Given the description of an element on the screen output the (x, y) to click on. 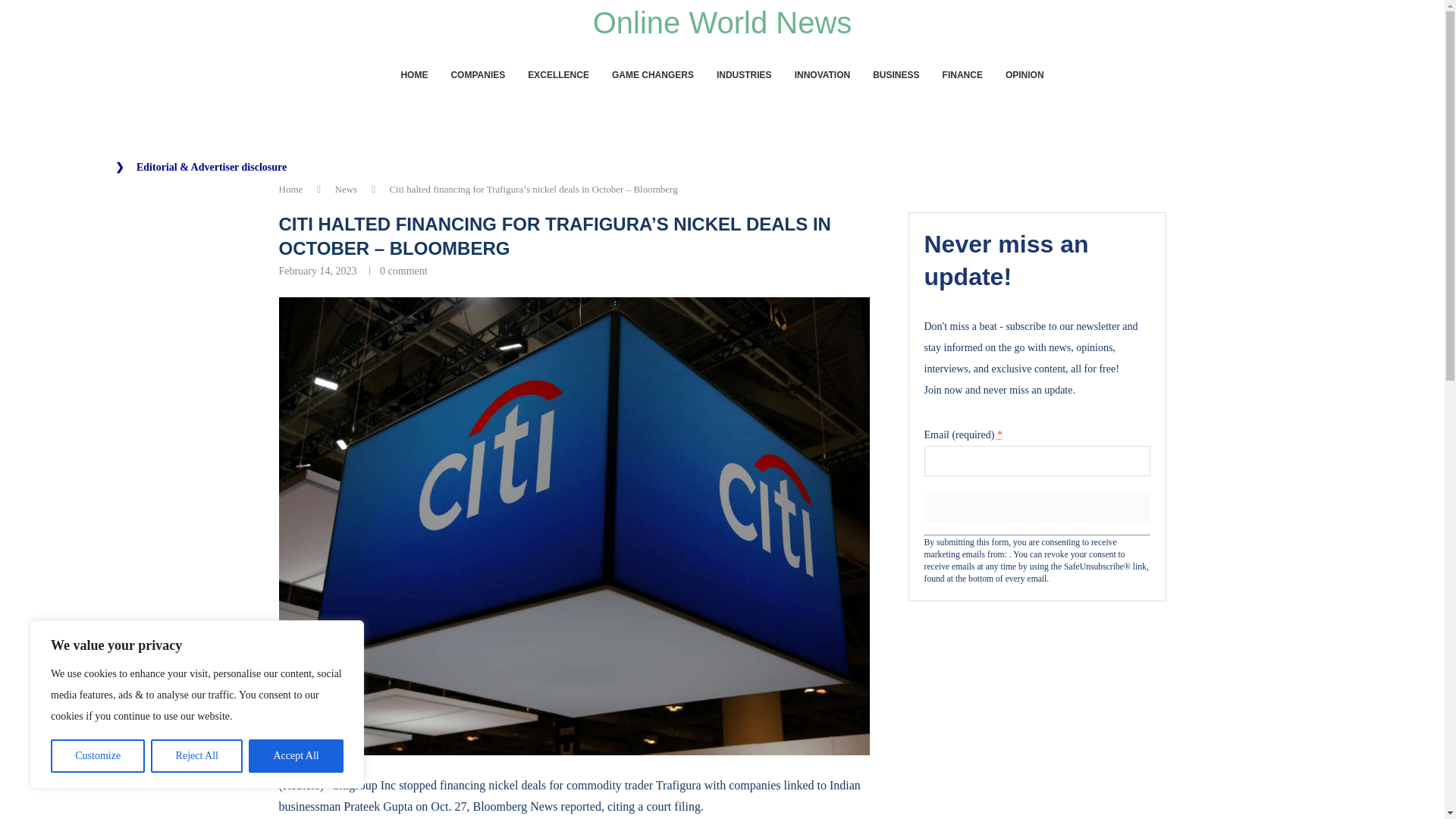
BUSINESS (895, 75)
Accept All (295, 756)
INNOVATION (822, 75)
Online World News (721, 22)
INDUSTRIES (743, 75)
COMPANIES (477, 75)
Sign up! (1036, 506)
Customize (97, 756)
EXCELLENCE (558, 75)
GAME CHANGERS (652, 75)
FINANCE (962, 75)
Reject All (197, 756)
